Given the description of an element on the screen output the (x, y) to click on. 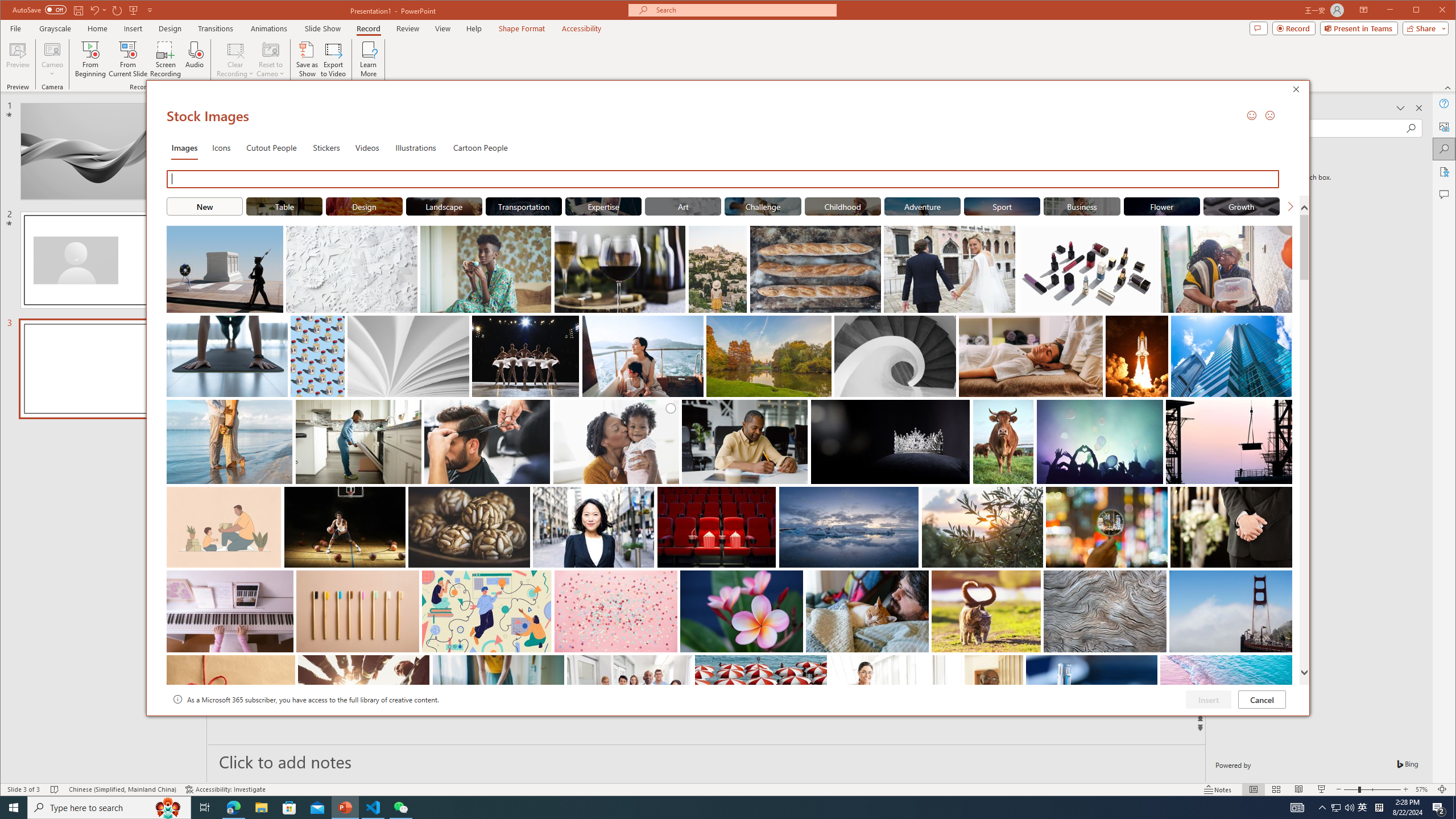
From Beginning... (90, 59)
"Adventure" Stock Images. (921, 206)
